Given the description of an element on the screen output the (x, y) to click on. 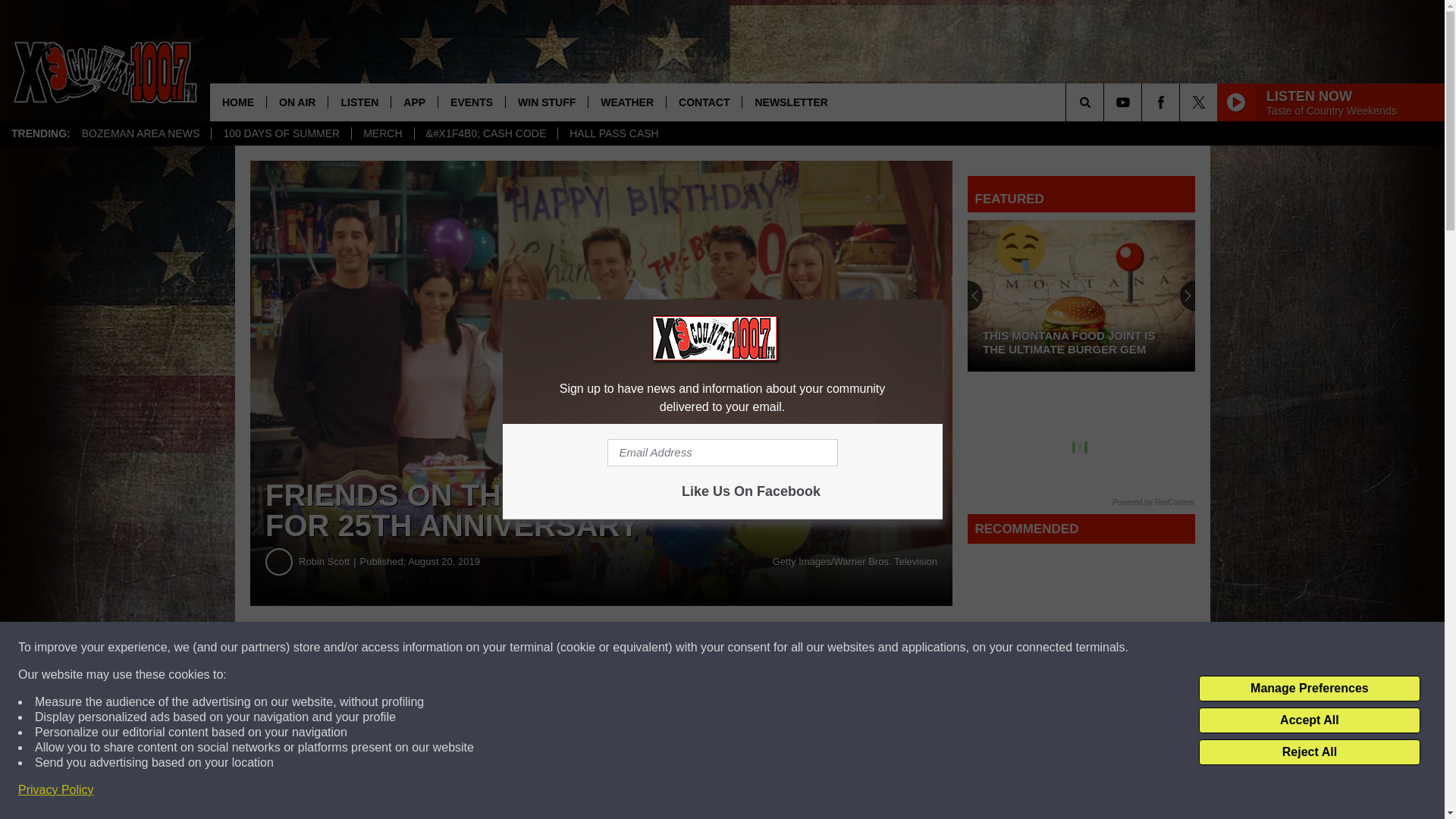
Share on Facebook (460, 647)
Share on Twitter (741, 647)
WEATHER (626, 102)
100 DAYS OF SUMMER (280, 133)
SEARCH (1106, 102)
MERCH (381, 133)
HOME (237, 102)
WIN STUFF (546, 102)
SEARCH (1106, 102)
APP (414, 102)
Privacy Policy (55, 789)
Email Address (722, 452)
Manage Preferences (1309, 688)
LISTEN (358, 102)
HALL PASS CASH (613, 133)
